Given the description of an element on the screen output the (x, y) to click on. 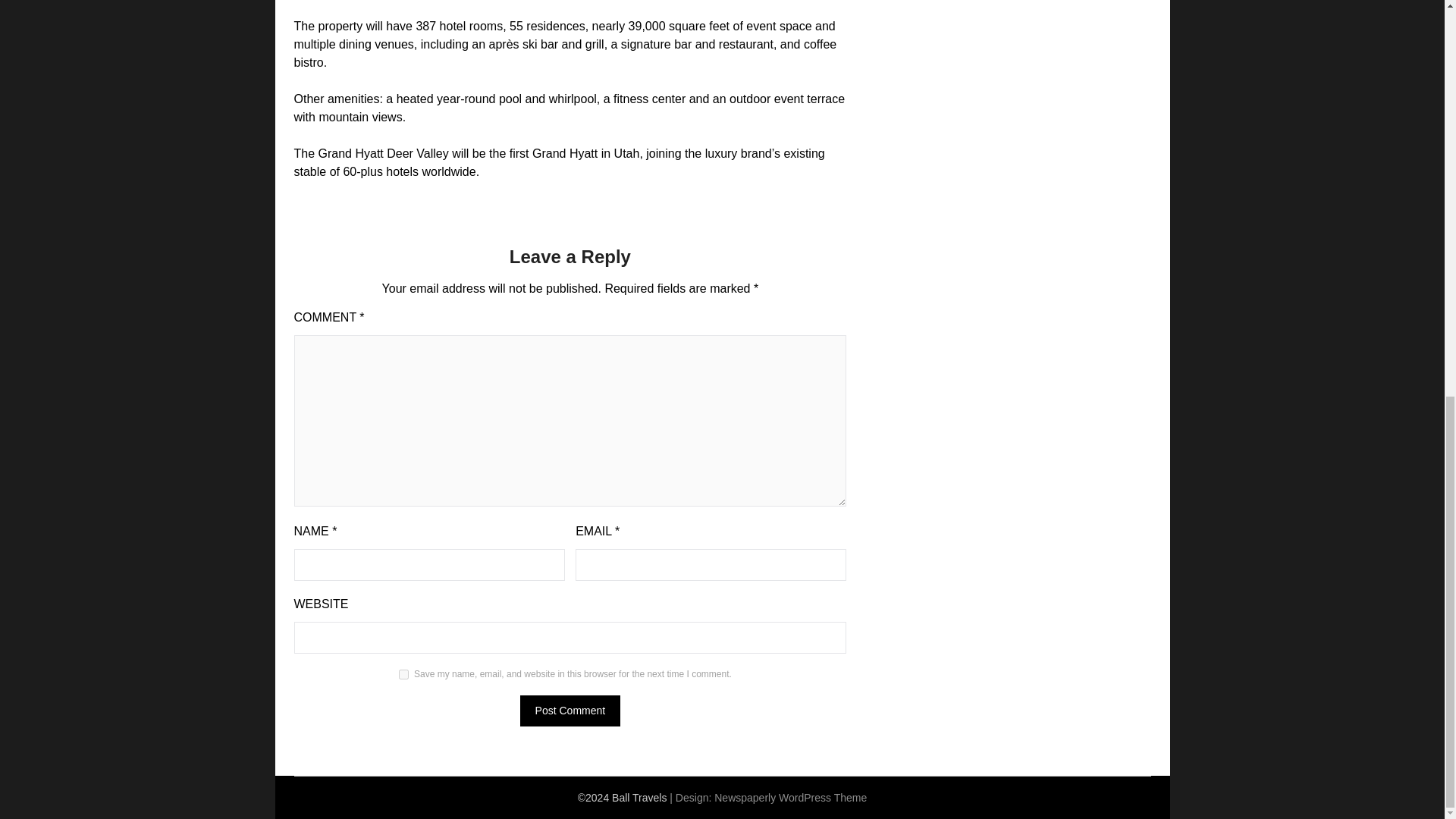
yes (403, 674)
Post Comment (570, 710)
Newspaperly WordPress Theme (790, 797)
Post Comment (570, 710)
